Given the description of an element on the screen output the (x, y) to click on. 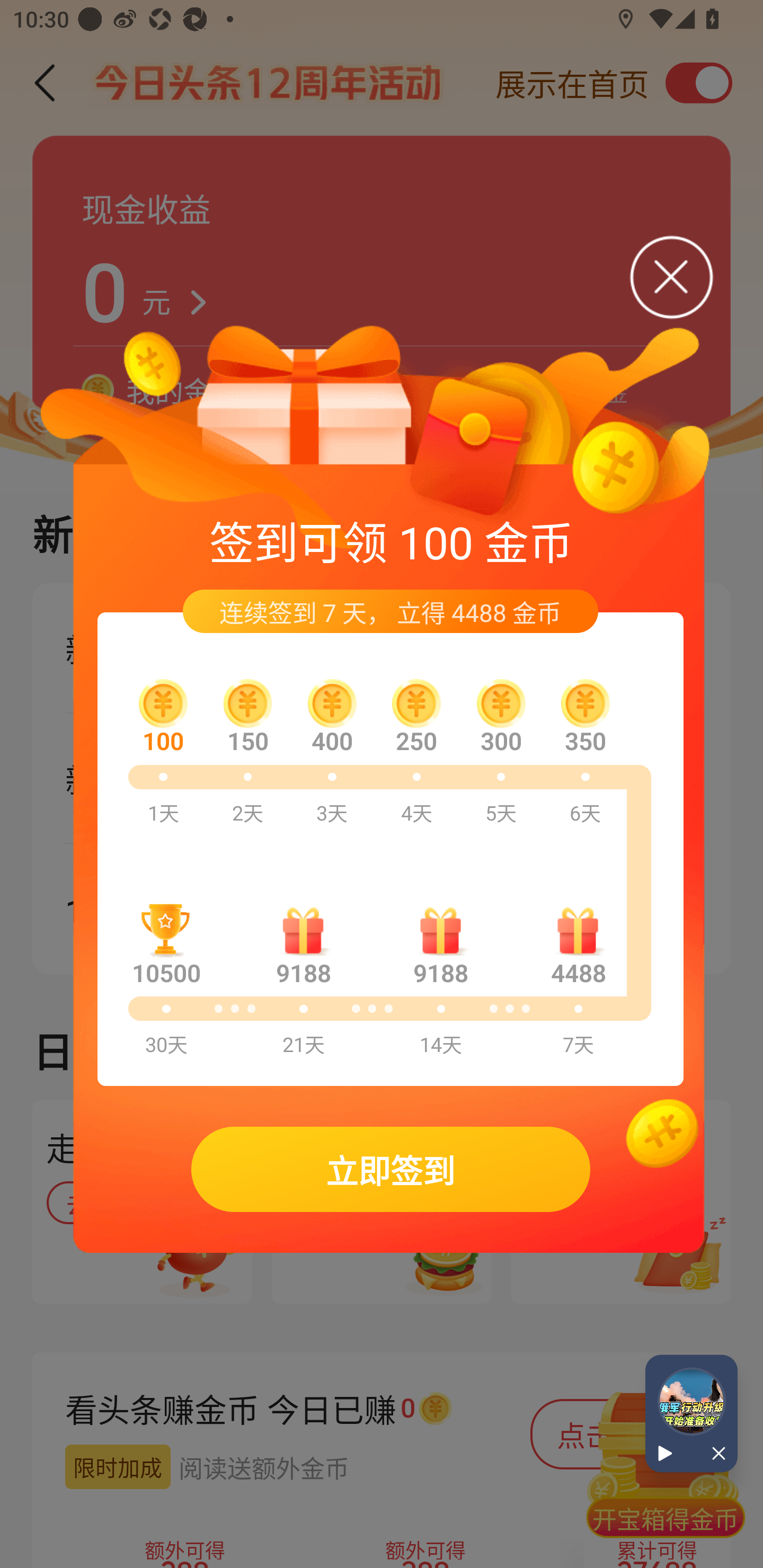
当前进度 0% 播放 关闭 (691, 1413)
播放 (668, 1454)
关闭 (714, 1454)
